Given the description of an element on the screen output the (x, y) to click on. 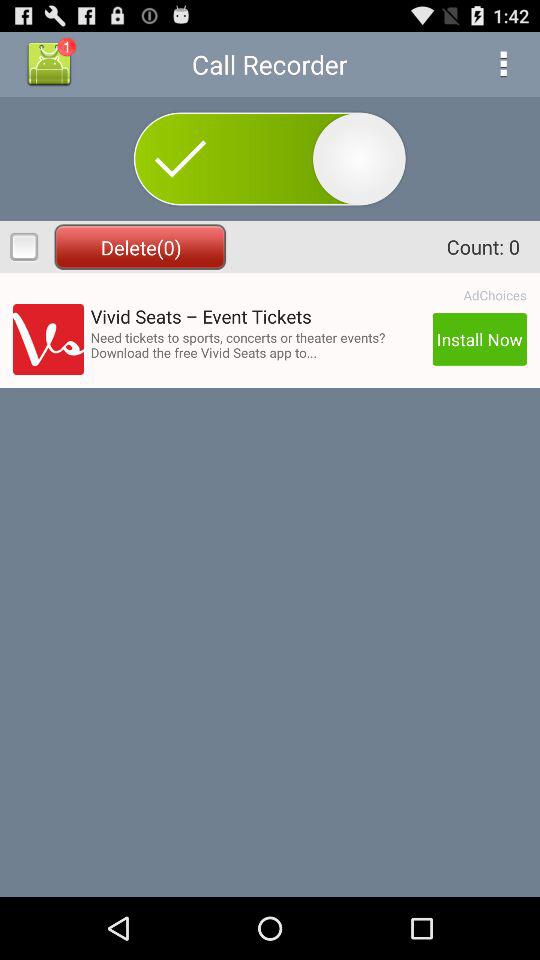
press icon next to the install now button (257, 344)
